Given the description of an element on the screen output the (x, y) to click on. 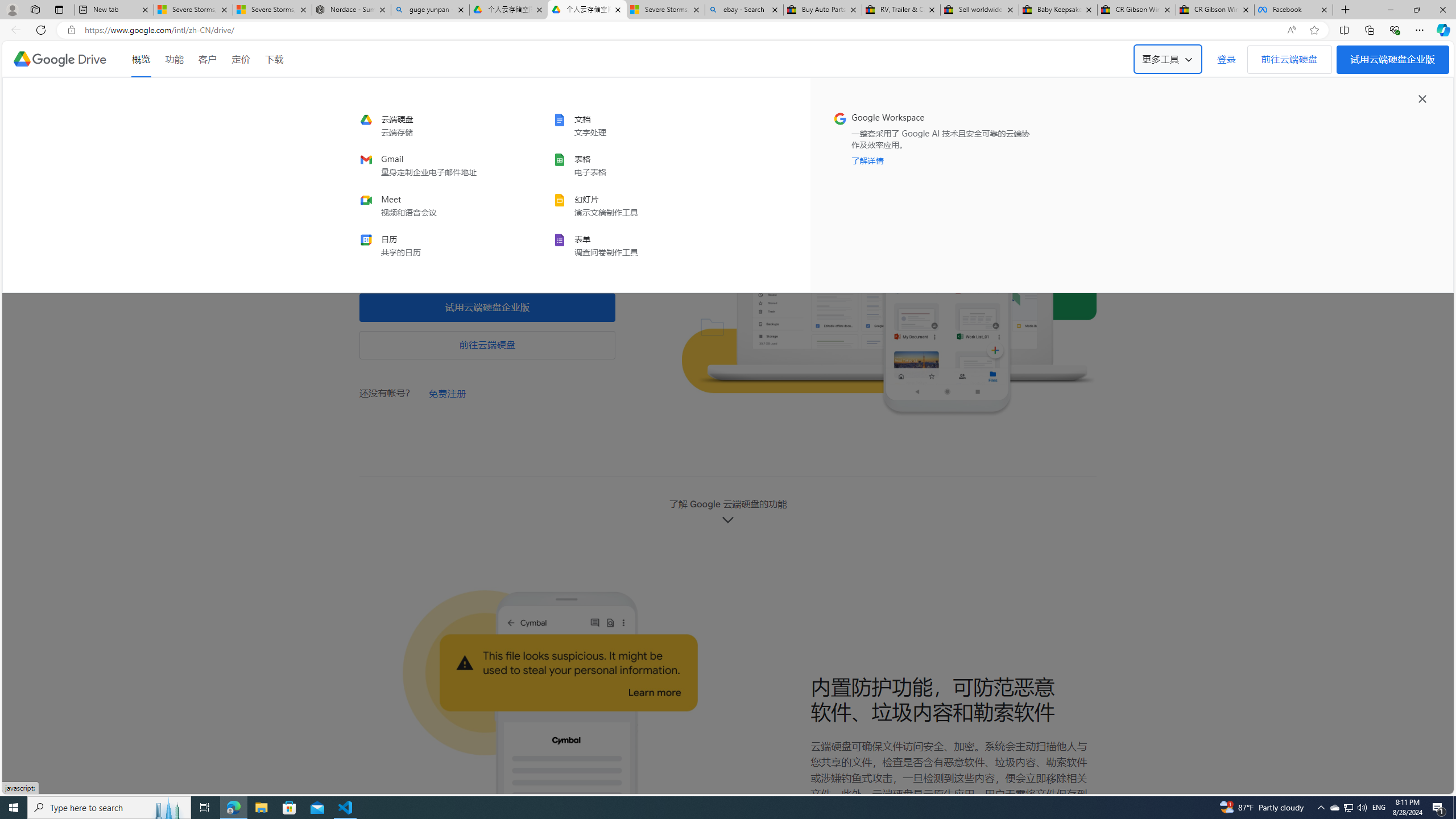
meet (435, 205)
gmail (435, 165)
